Given the description of an element on the screen output the (x, y) to click on. 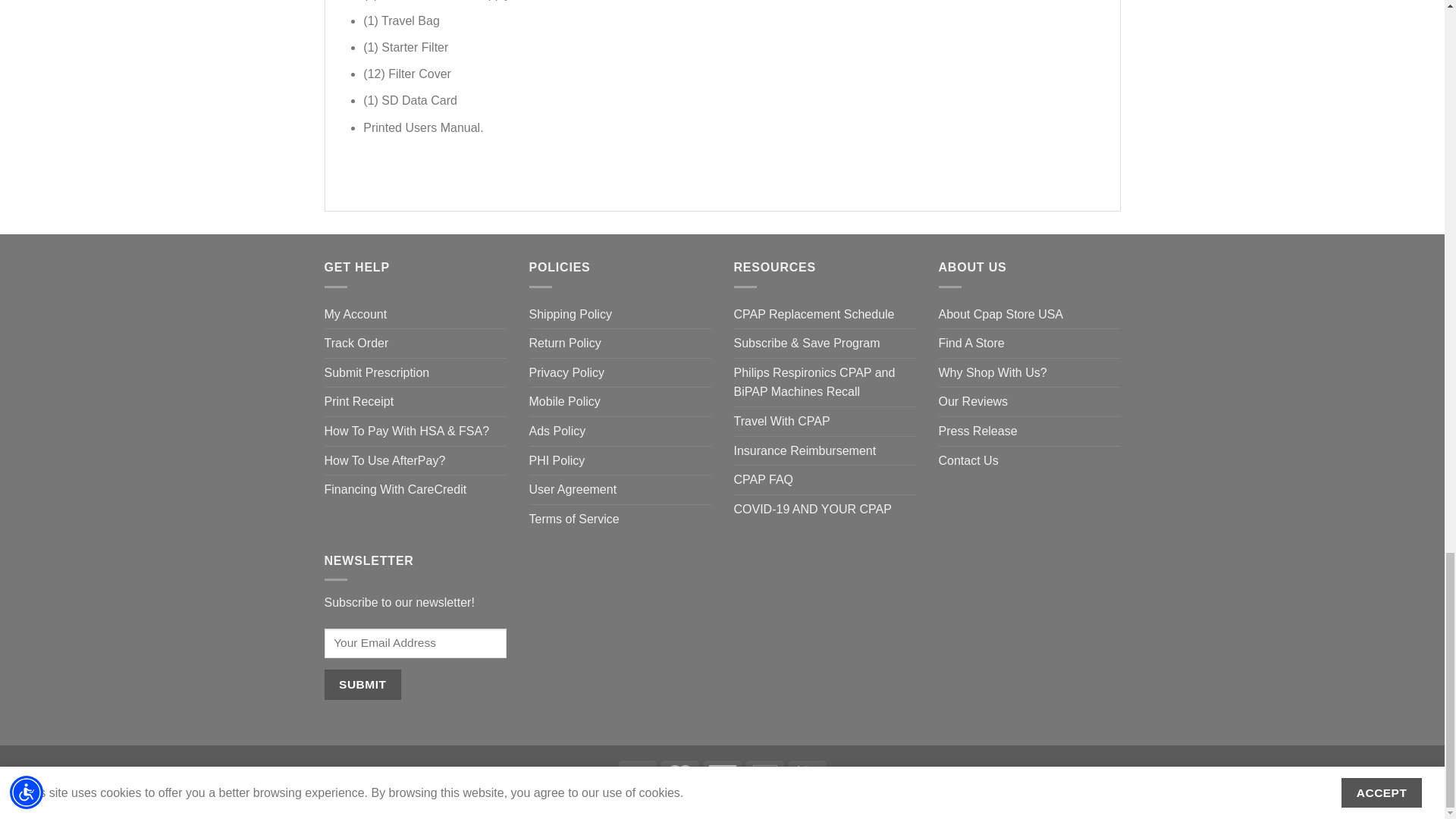
Submit (362, 684)
